Given the description of an element on the screen output the (x, y) to click on. 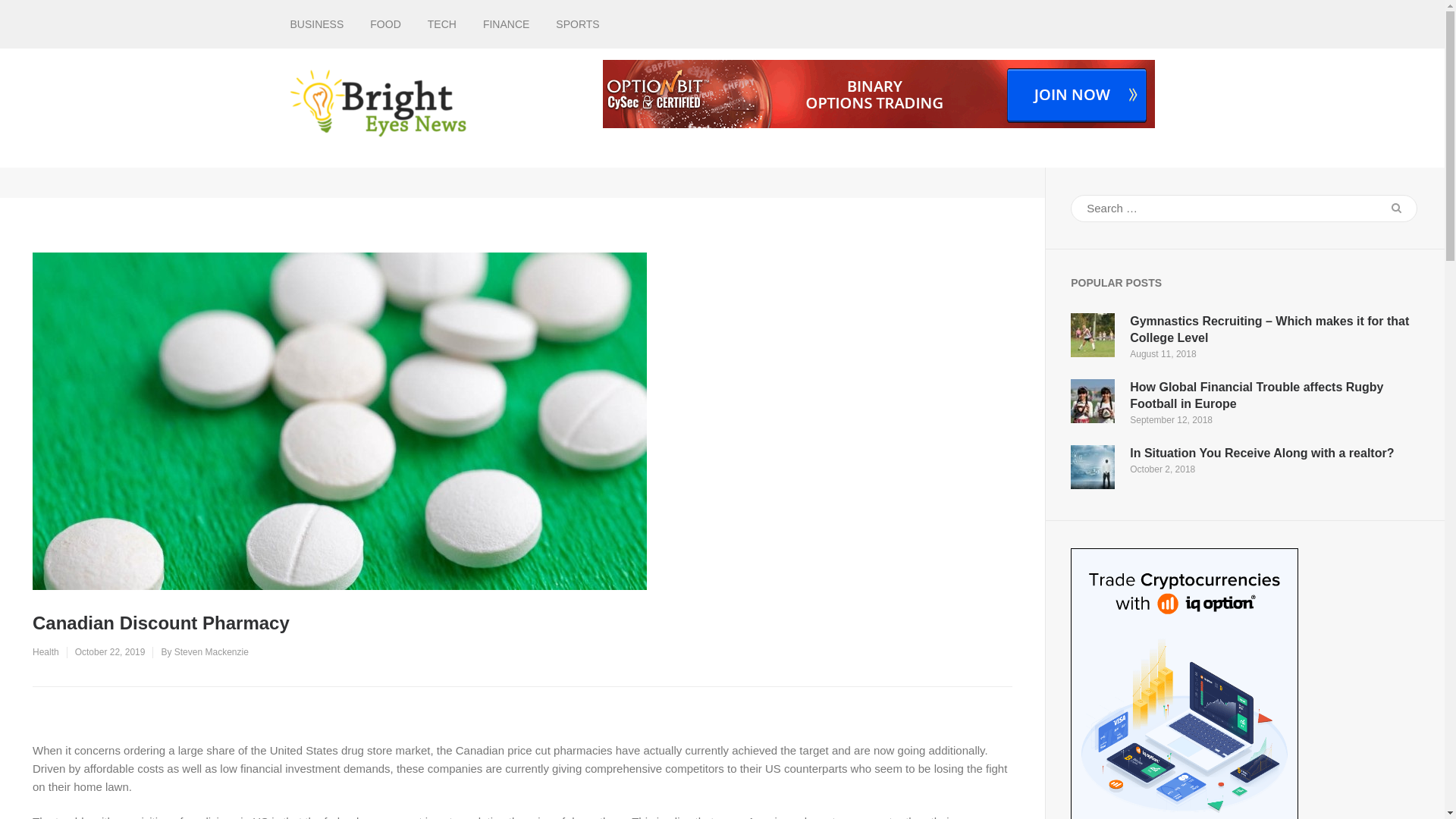
October 22, 2019 (110, 652)
Search (1395, 207)
August 11, 2018 (1162, 353)
BUSINESS (316, 24)
In Situation You Receive Along with a realtor? (1261, 452)
Steven Mackenzie (211, 652)
SPORTS (577, 24)
Search (1395, 207)
September 12, 2018 (1170, 419)
Health (45, 652)
